Given the description of an element on the screen output the (x, y) to click on. 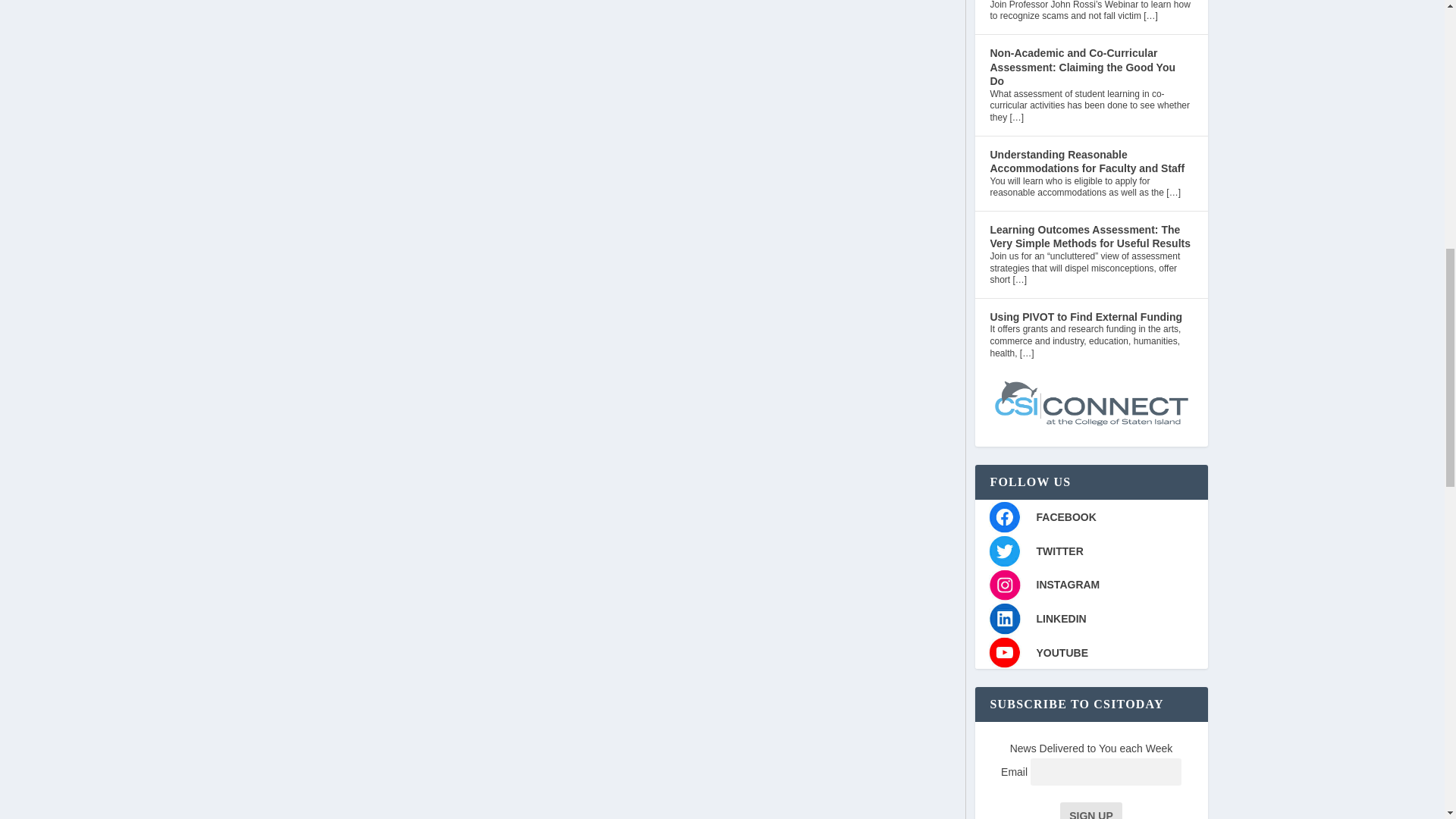
Sign up (1090, 810)
